Given the description of an element on the screen output the (x, y) to click on. 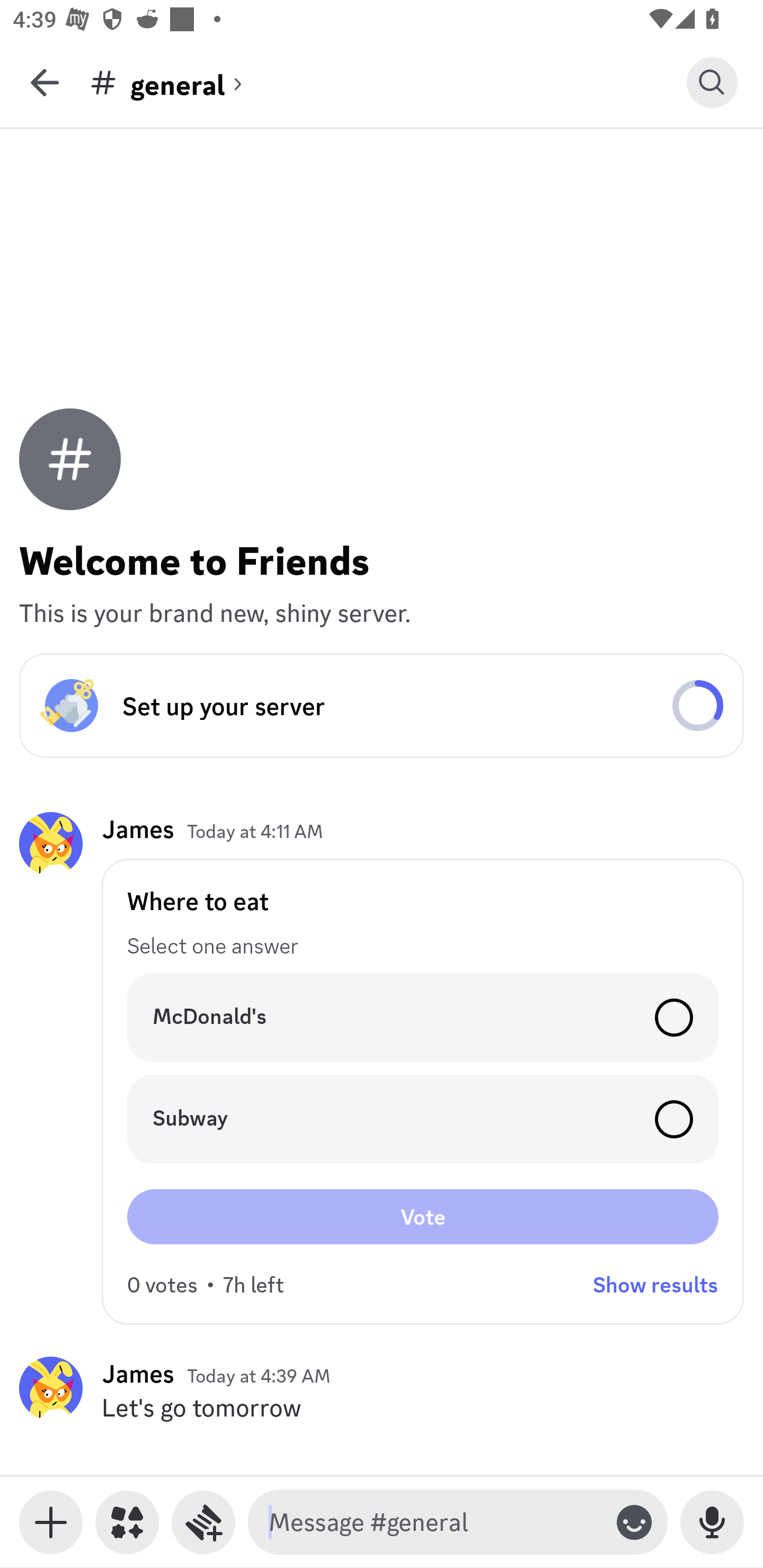
general (channel) general general (channel) (387, 82)
Back (44, 82)
Search (711, 82)
Set up your server (381, 705)
James (137, 829)
McDonald's (422, 1017)
Subway (422, 1118)
Vote (422, 1216)
0 votes  •  7h left (205, 1284)
Show results (655, 1284)
James (137, 1373)
Message #general Toggle emoji keyboard (457, 1522)
Toggle media keyboard (50, 1522)
Apps (126, 1522)
Thread (203, 1522)
Record Voice Message (711, 1522)
Toggle emoji keyboard (634, 1522)
